Given the description of an element on the screen output the (x, y) to click on. 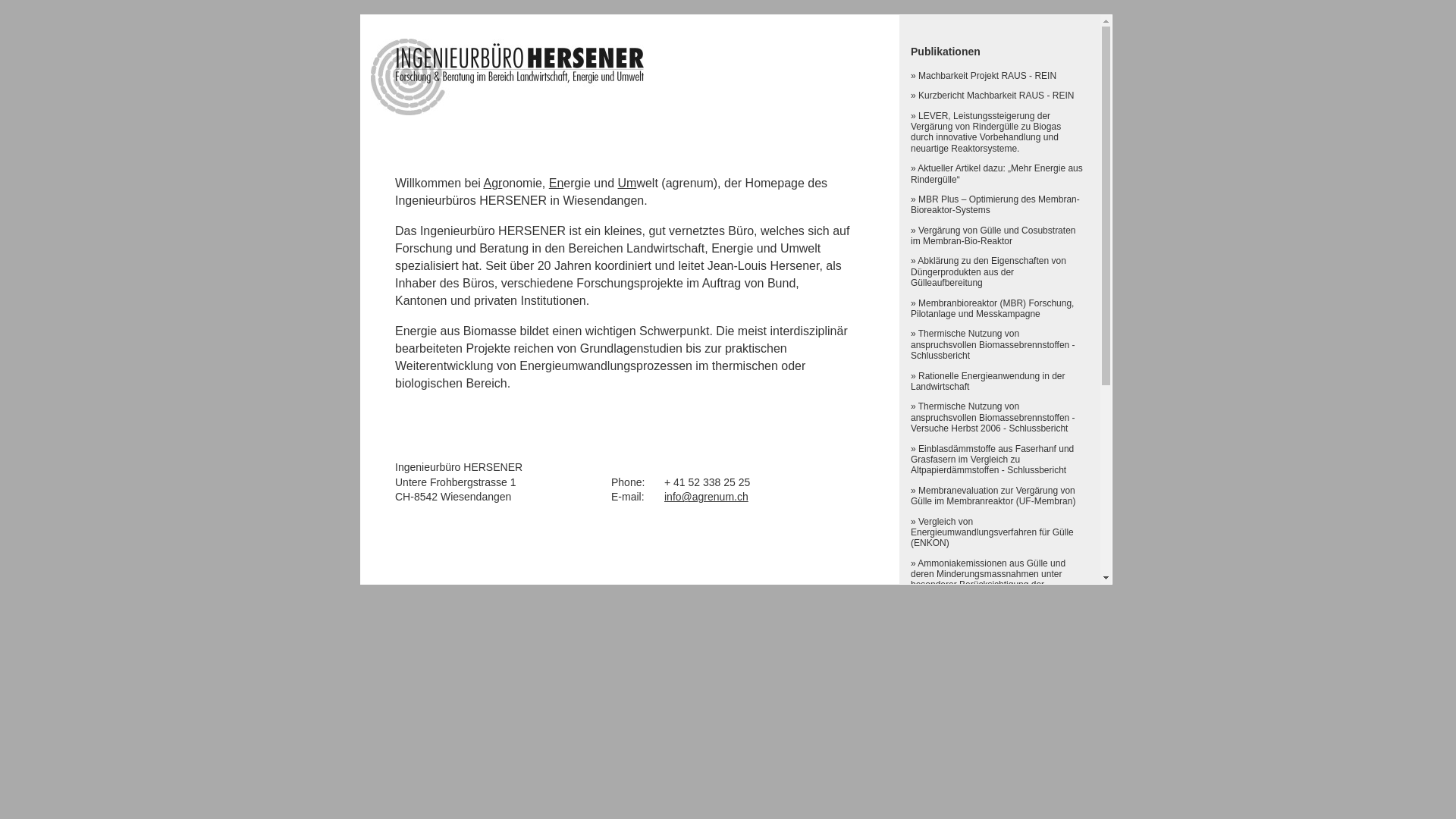
info@agrenum.ch Element type: text (706, 496)
